Given the description of an element on the screen output the (x, y) to click on. 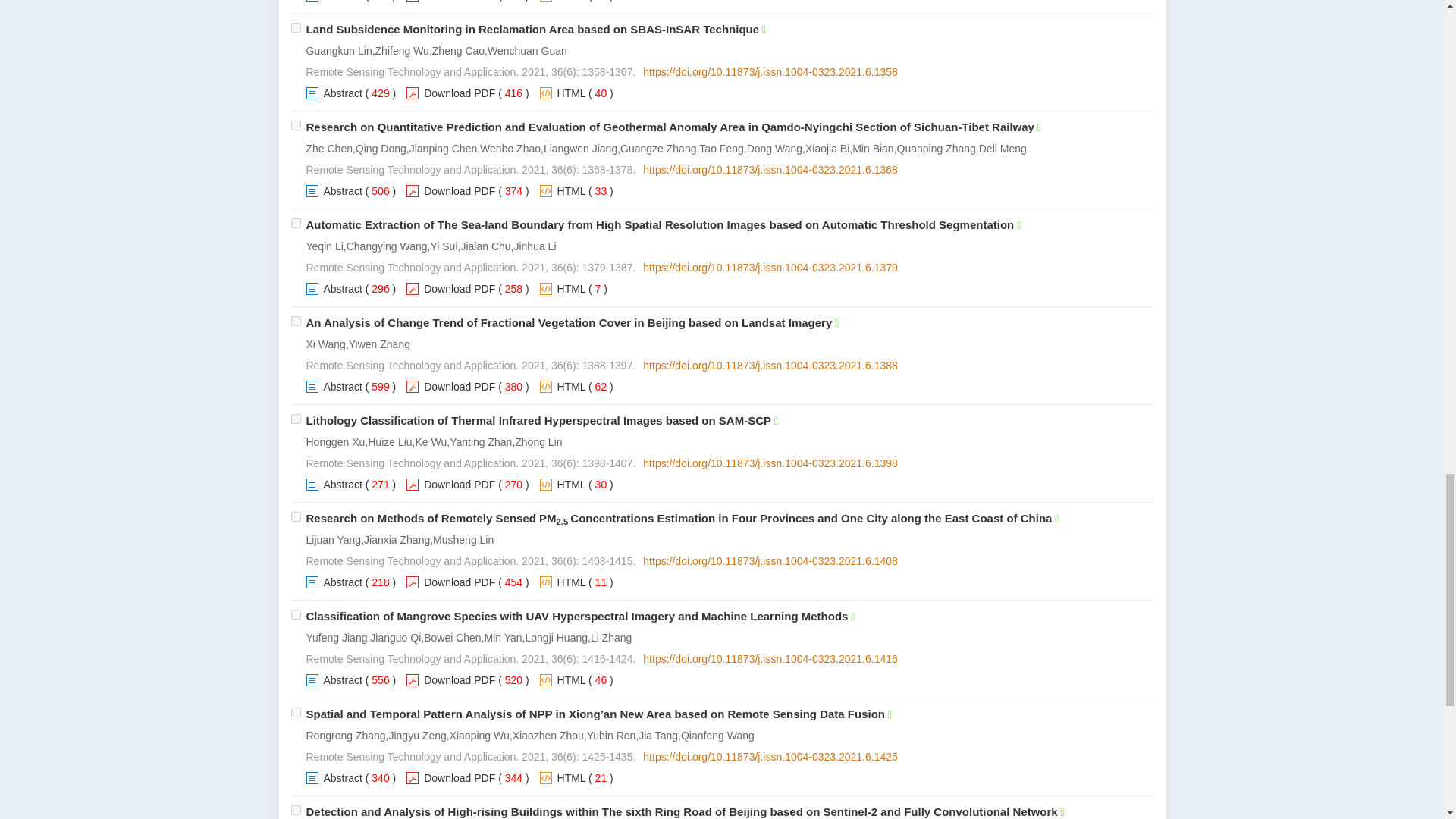
3448 (296, 27)
3451 (296, 320)
3449 (296, 125)
3450 (296, 223)
